Given the description of an element on the screen output the (x, y) to click on. 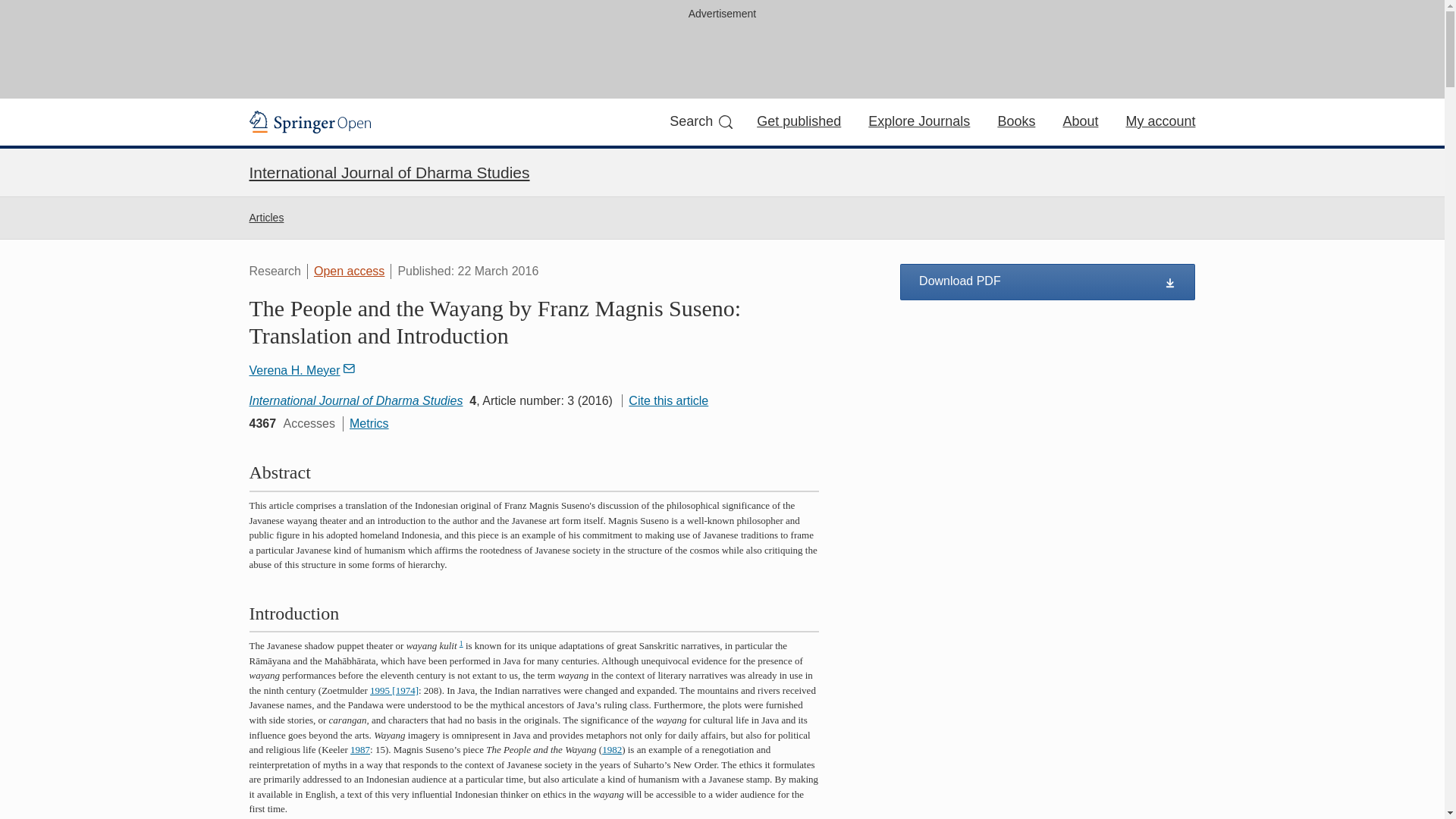
Search (700, 121)
1982 (611, 749)
Verena H. Meyer (301, 369)
My account (1160, 120)
Books (1016, 120)
International Journal of Dharma Studies (388, 171)
Explore Journals (918, 120)
About (1079, 120)
